Given the description of an element on the screen output the (x, y) to click on. 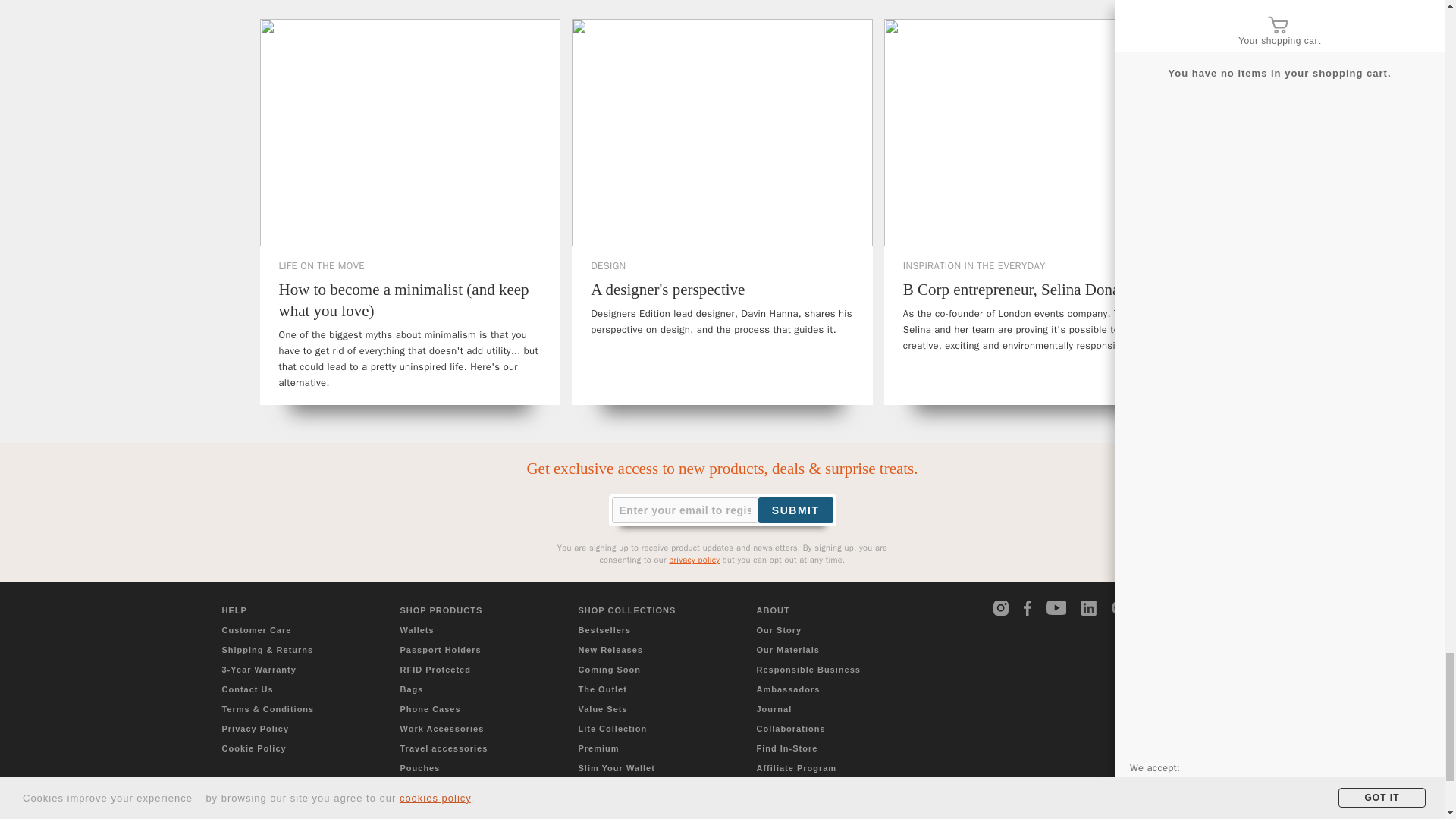
Instagram (1000, 607)
Facebook (1031, 607)
YouTube (1056, 607)
LinkedIn (1088, 607)
Pinterest (1119, 607)
TikTok (1149, 607)
